Given the description of an element on the screen output the (x, y) to click on. 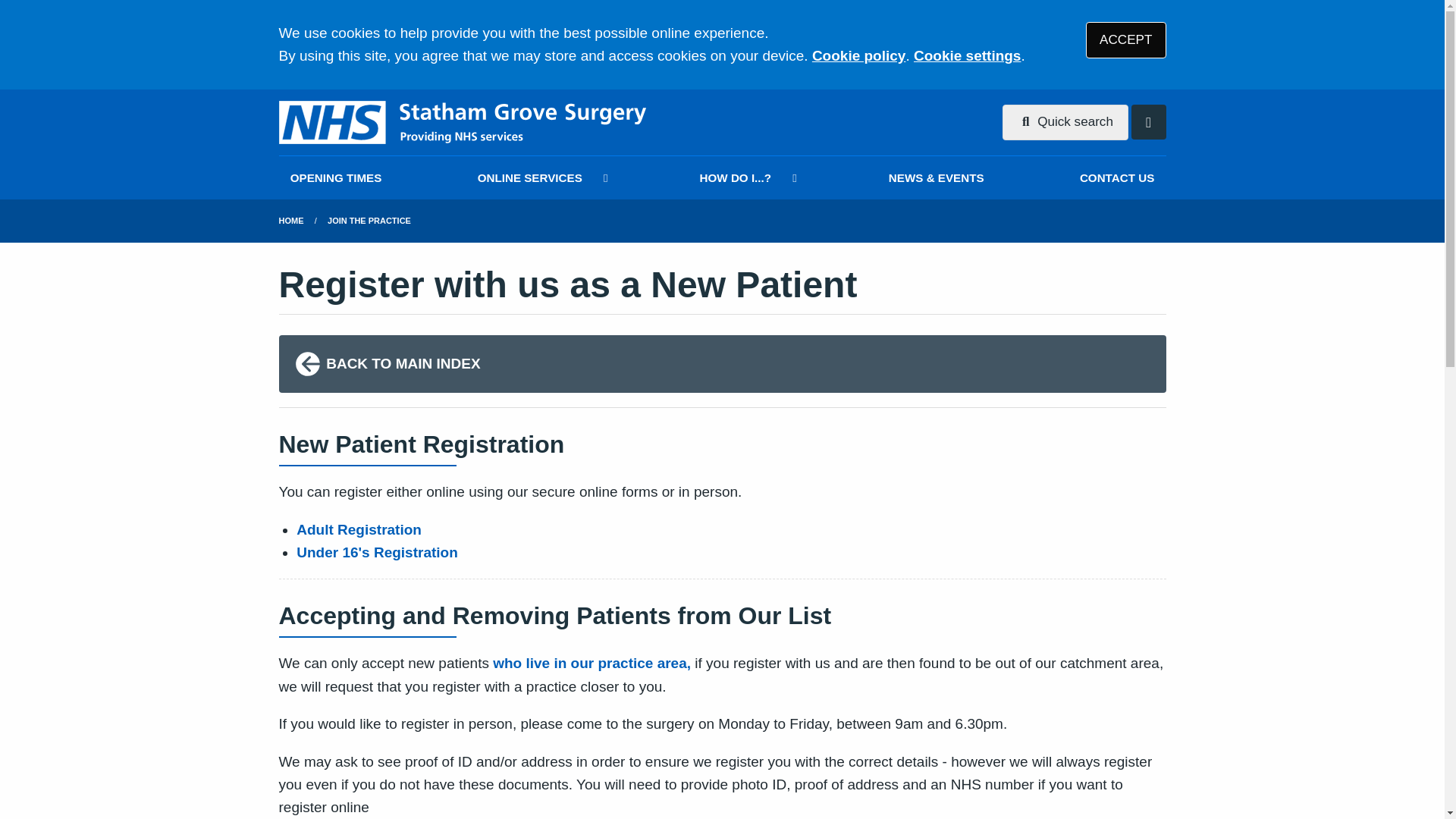
JOIN THE PRACTICE (368, 220)
HOW DO I...? (745, 177)
ACCEPT (1126, 39)
who live in our practice area, (591, 662)
Adult Registration (359, 529)
Cookie settings (967, 55)
OPENING TIMES (336, 177)
Under 16's Registration (377, 552)
Cookie policy (858, 55)
HOME (291, 220)
ONLINE SERVICES (539, 177)
CONTACT US (1117, 177)
BACK TO MAIN INDEX (722, 363)
